Given the description of an element on the screen output the (x, y) to click on. 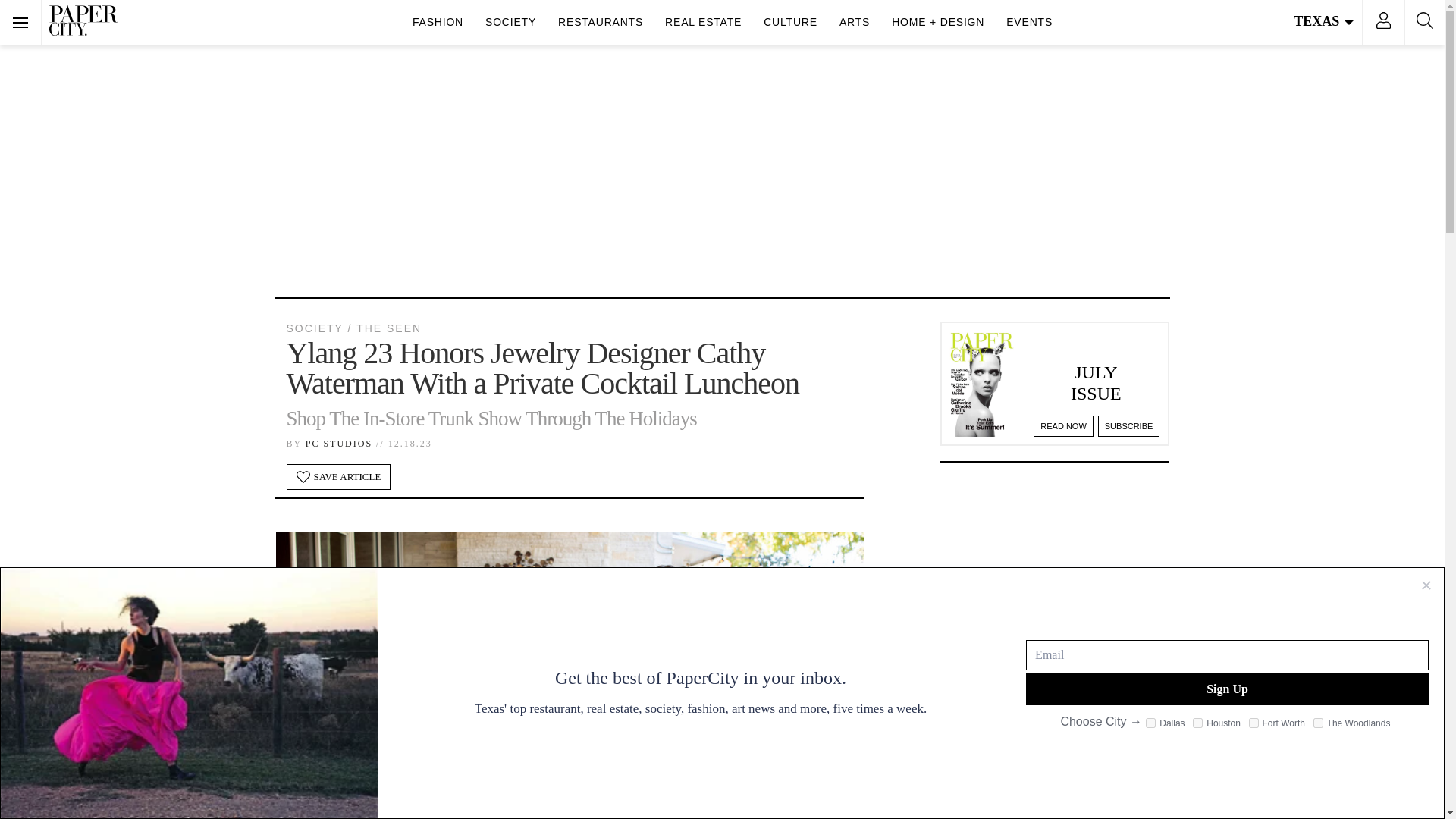
ab38ecbd50 (1318, 723)
2b928294d0 (1254, 723)
PaperCity Magazine (83, 20)
48a2fa4eb3 (1150, 723)
69825e722d (1197, 723)
